Given the description of an element on the screen output the (x, y) to click on. 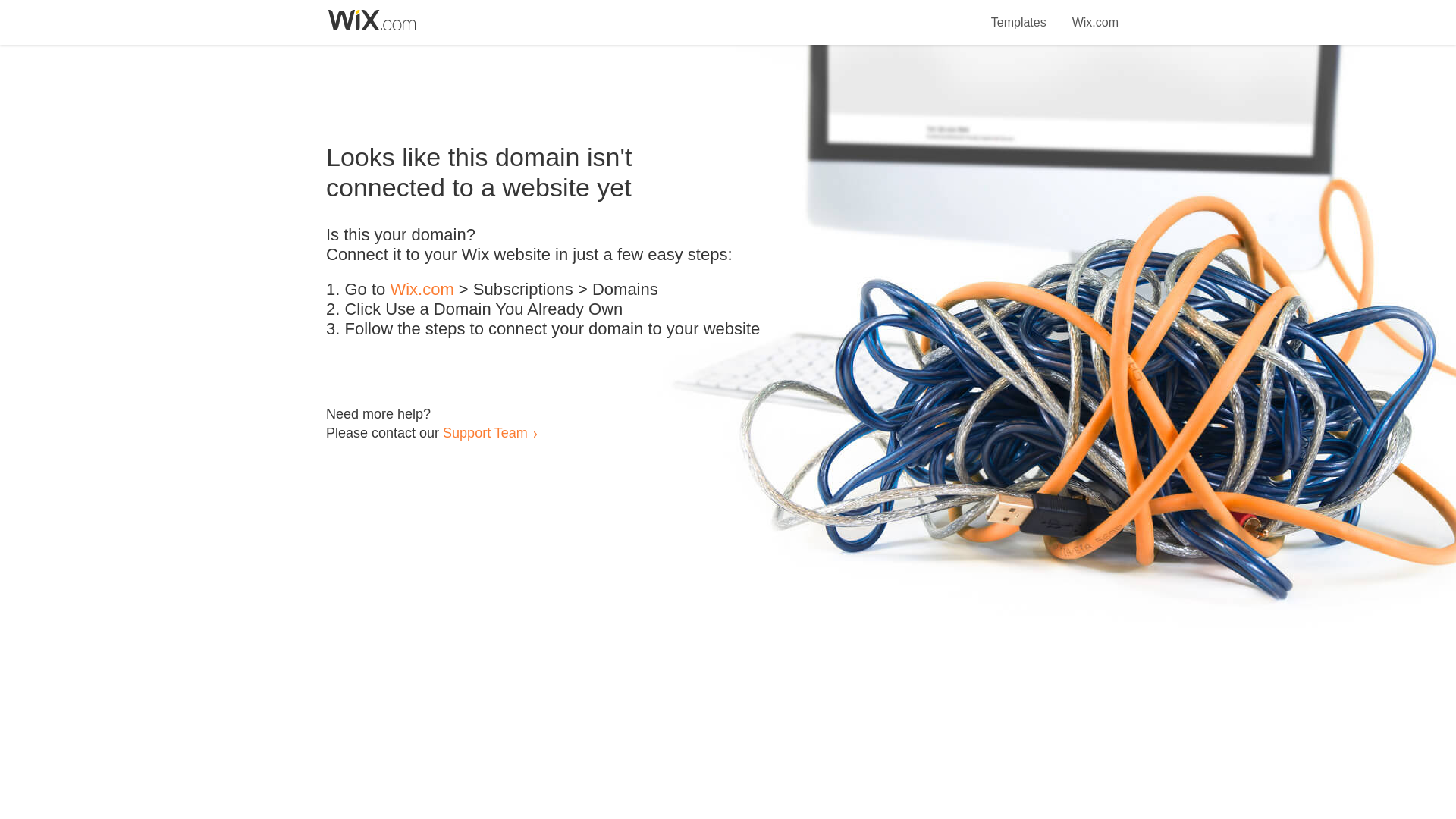
Wix.com (1095, 14)
Support Team (484, 432)
Templates (1018, 14)
Wix.com (421, 289)
